Given the description of an element on the screen output the (x, y) to click on. 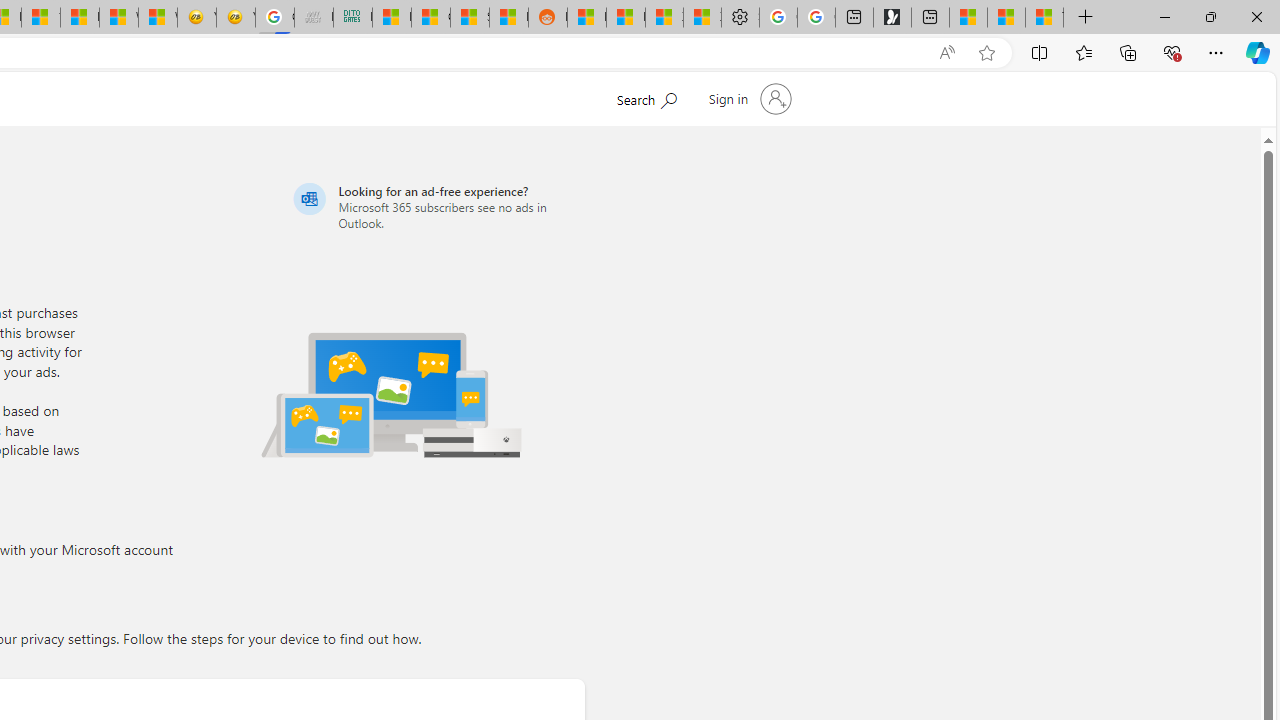
Illustration of multiple devices (391, 394)
